Given the description of an element on the screen output the (x, y) to click on. 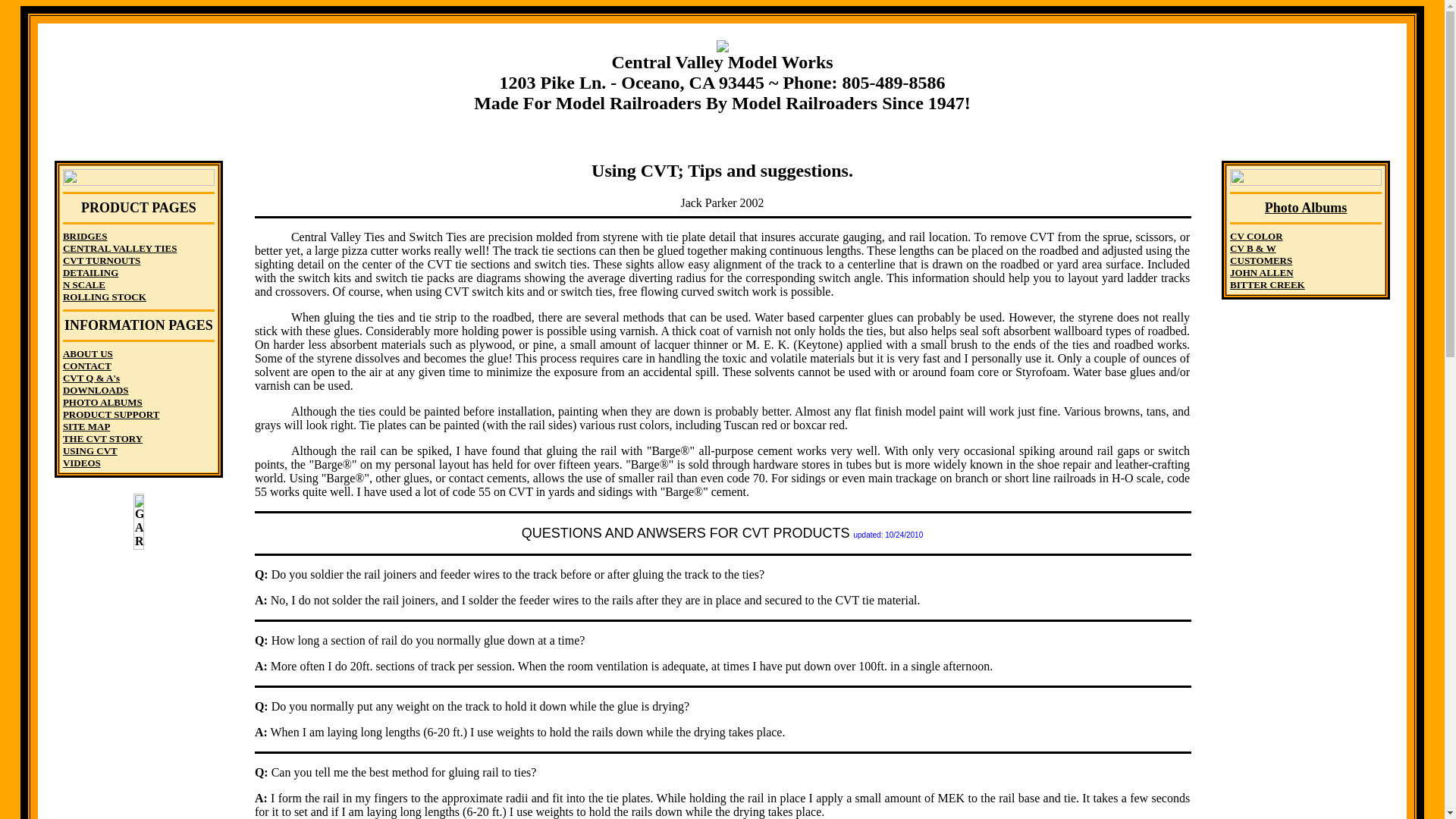
Photo Albums (1306, 207)
SITE MAP (86, 426)
BITTER CREEK (1267, 284)
PHOTO ALBUMS (102, 401)
DOWNLOADS (95, 389)
CV COLOR (1256, 235)
ABOUT US (87, 353)
CONTACT (87, 365)
CUSTOMERS (1261, 260)
PRODUCT SUPPORT (111, 414)
